Given the description of an element on the screen output the (x, y) to click on. 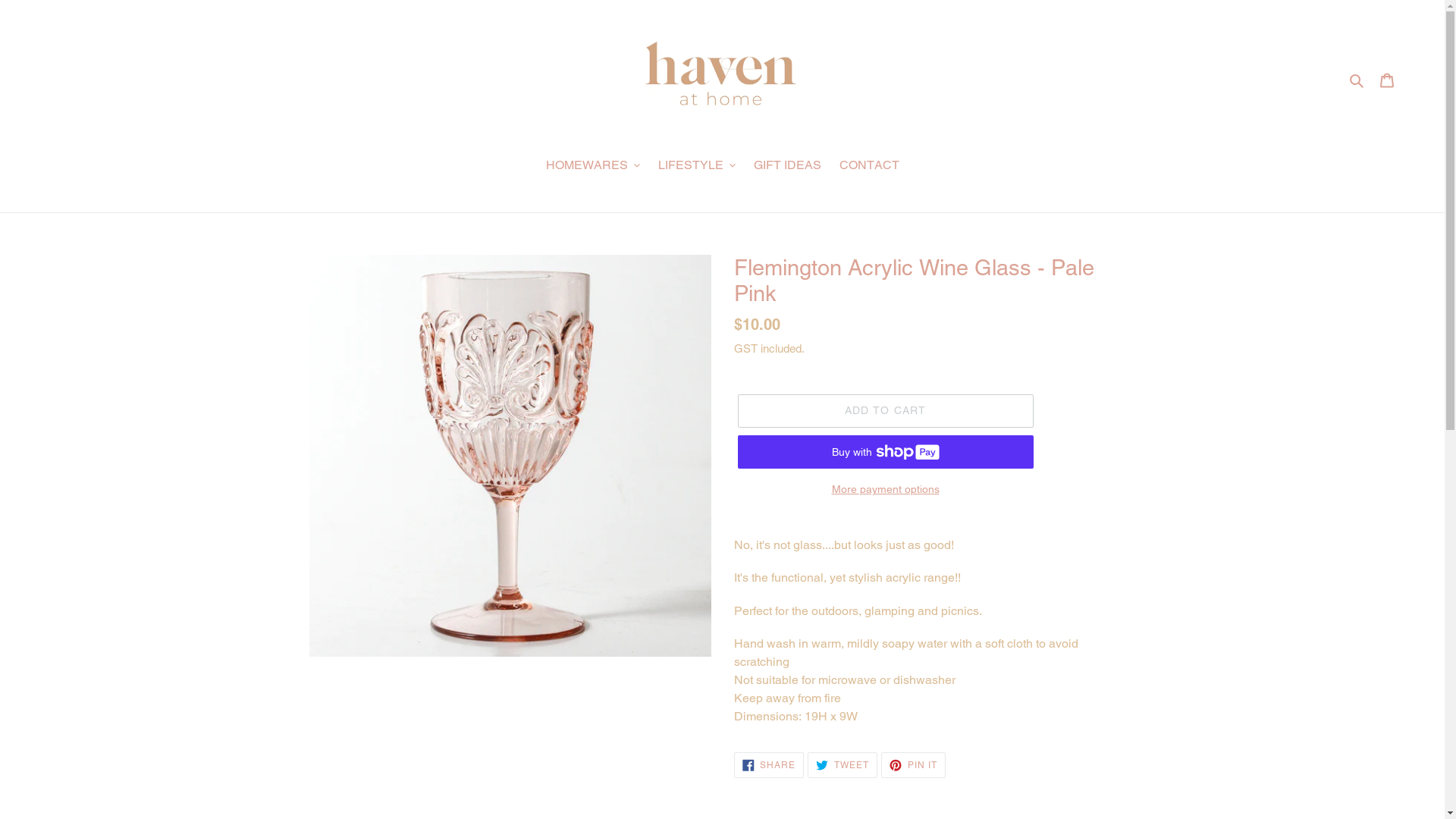
SHARE
SHARE ON FACEBOOK Element type: text (769, 765)
ADD TO CART Element type: text (884, 410)
Search Element type: text (1357, 79)
TWEET
TWEET ON TWITTER Element type: text (842, 765)
GIFT IDEAS Element type: text (787, 166)
Cart Element type: text (1386, 79)
CONTACT Element type: text (868, 166)
PIN IT
PIN ON PINTEREST Element type: text (913, 765)
More payment options Element type: text (884, 489)
HOMEWARES Element type: text (592, 166)
LIFESTYLE Element type: text (696, 166)
